Given the description of an element on the screen output the (x, y) to click on. 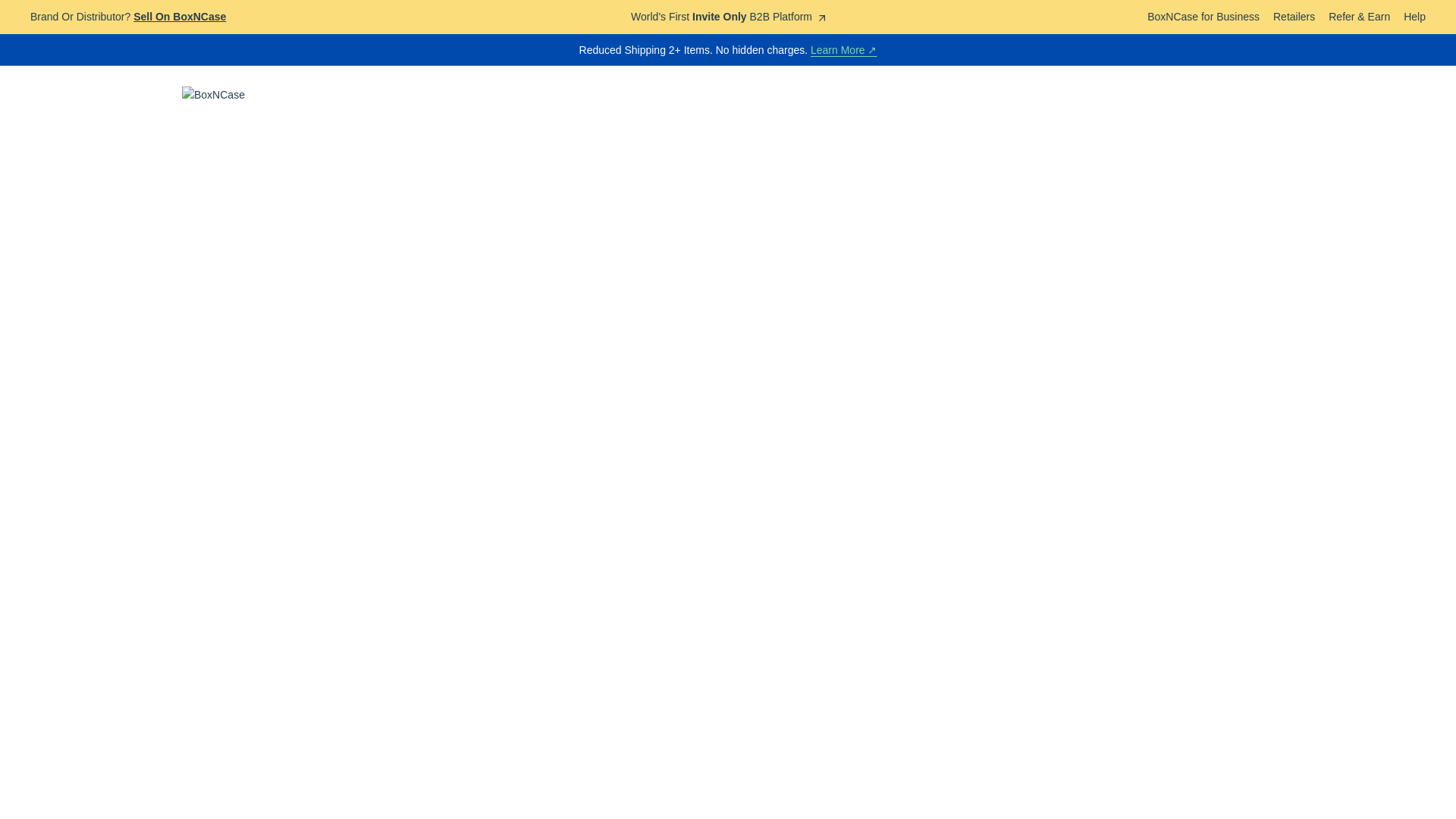
Sell On BoxNCase (179, 16)
BoxNCase for Business (1203, 16)
Help (1414, 16)
Skip to content (7, 3)
Retailers (1293, 16)
